Given the description of an element on the screen output the (x, y) to click on. 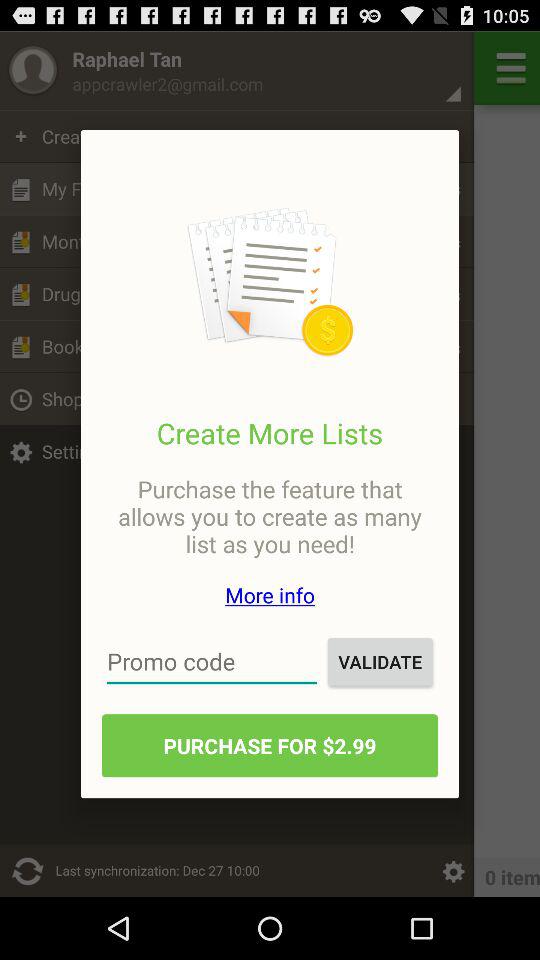
launch the icon to the left of validate item (212, 661)
